Given the description of an element on the screen output the (x, y) to click on. 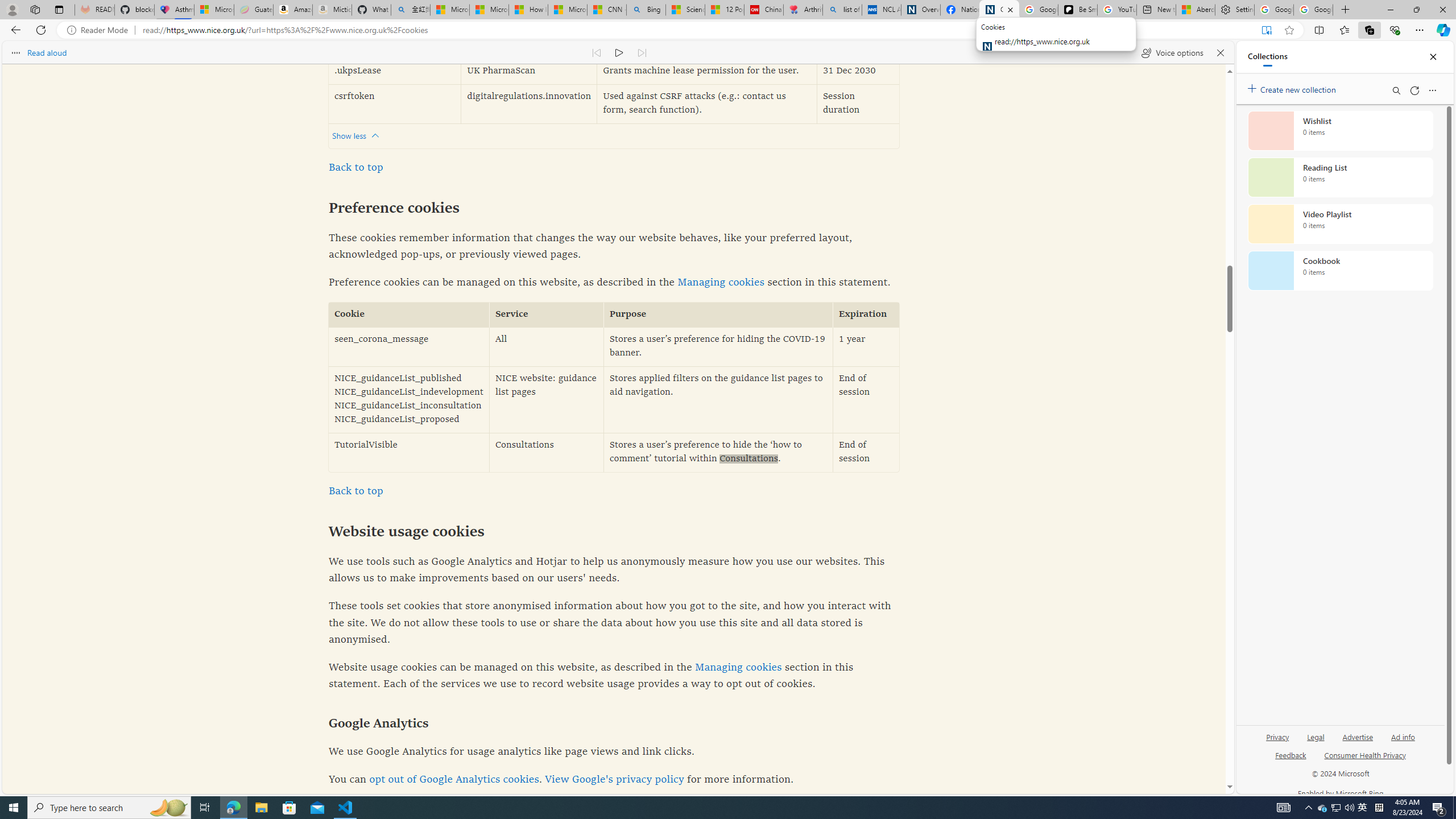
Voice options (1171, 52)
Continue to read aloud (Ctrl+Shift+U) (619, 52)
UK PharmaScan (528, 71)
Class: __reading_mode_collapse_button_chevron_up (375, 136)
Close read aloud (1219, 52)
Privacy (1278, 736)
TutorialVisible (408, 452)
list of asthma inhalers uk - Search (842, 9)
csrftoken (394, 103)
